Given the description of an element on the screen output the (x, y) to click on. 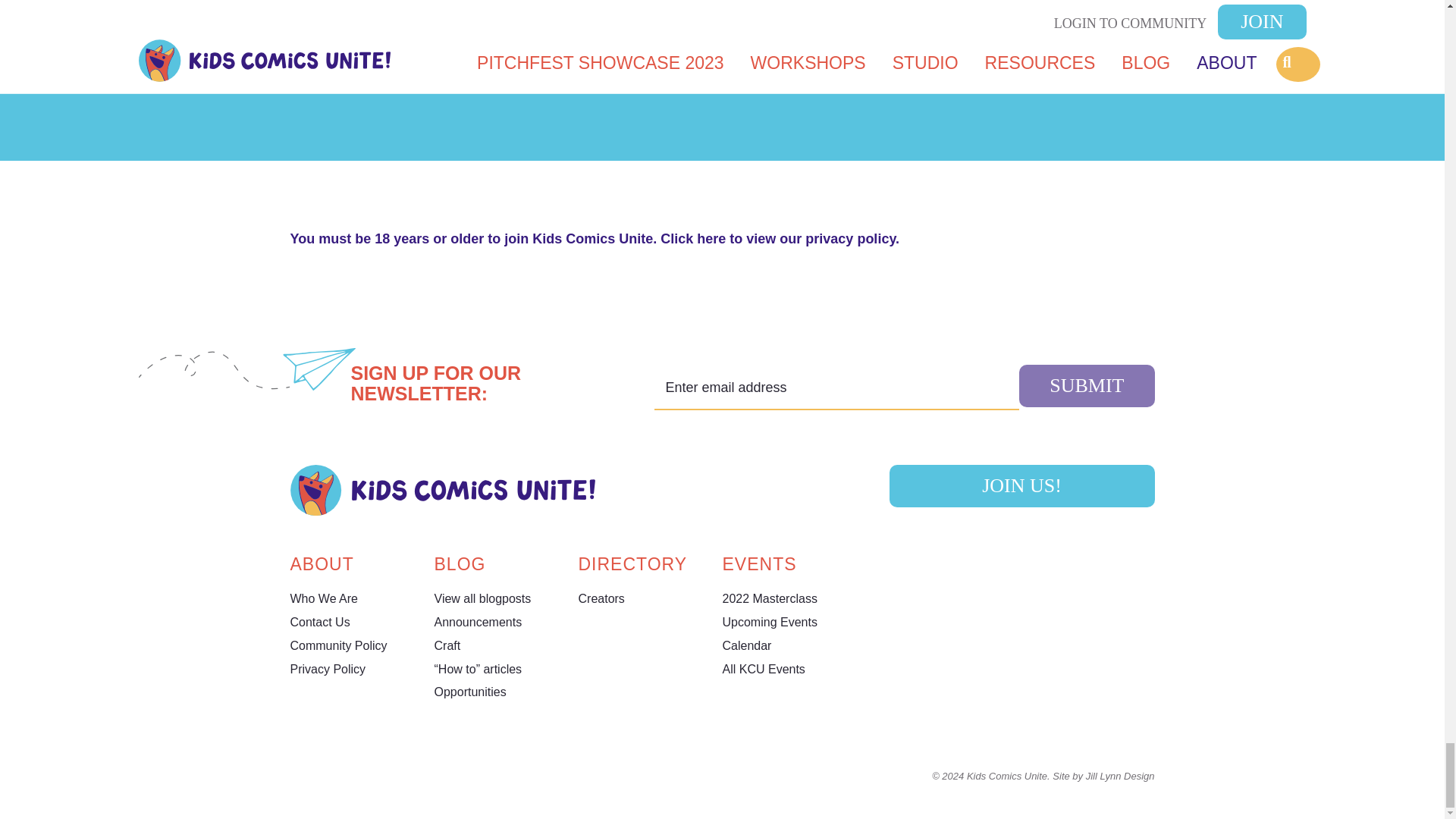
Twitter (312, 777)
Instagram (296, 777)
Submit (1086, 385)
Atlanta WordPress Designer and Developer (1103, 776)
